Given the description of an element on the screen output the (x, y) to click on. 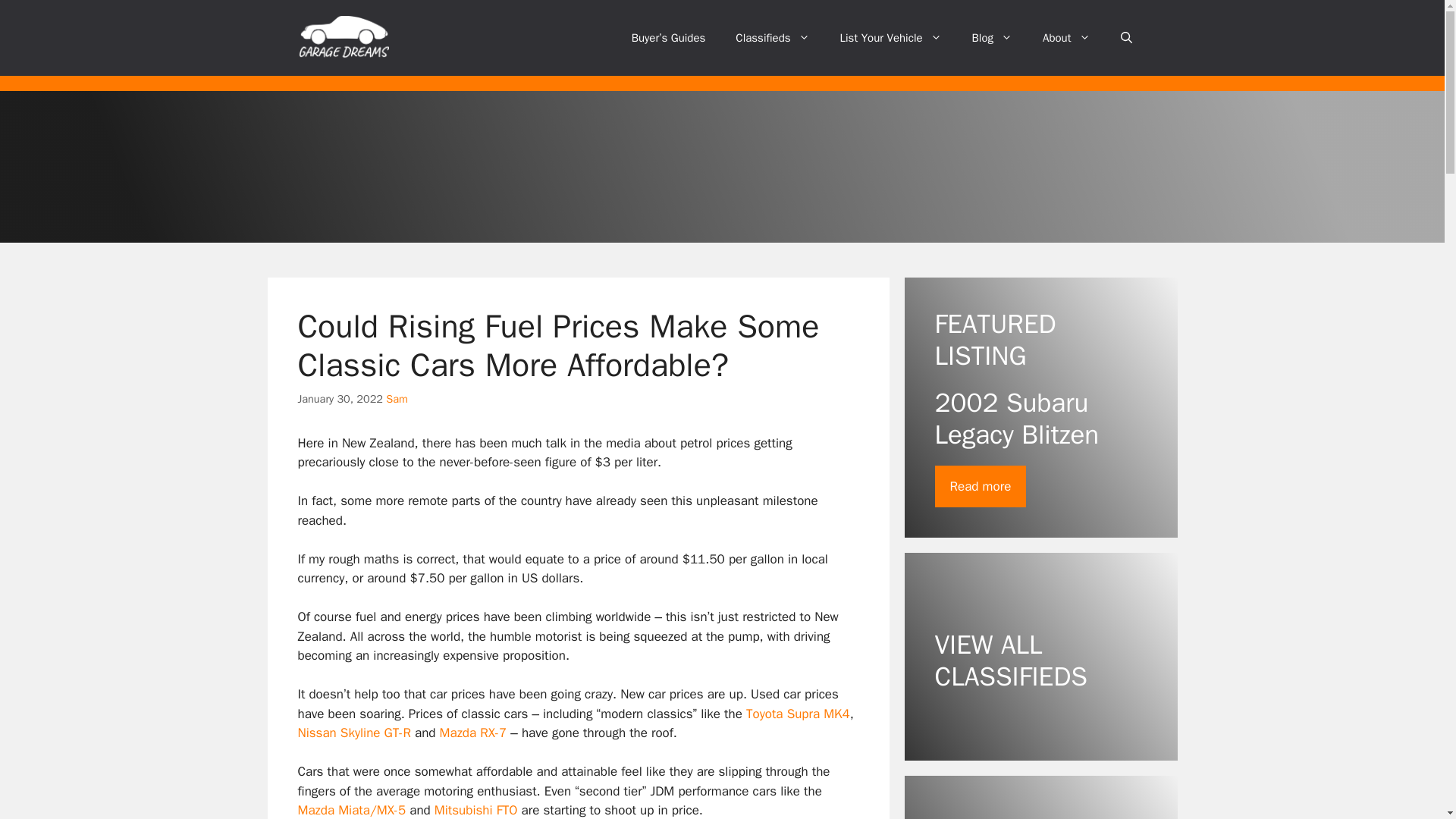
List Your Vehicle (890, 37)
Toyota Supra MK4 (797, 713)
About (1066, 37)
Read more (980, 486)
Sam (396, 398)
Blog (991, 37)
Mazda RX-7 (472, 732)
Classifieds (772, 37)
Nissan Skyline GT-R (353, 732)
Sam (396, 398)
